Given the description of an element on the screen output the (x, y) to click on. 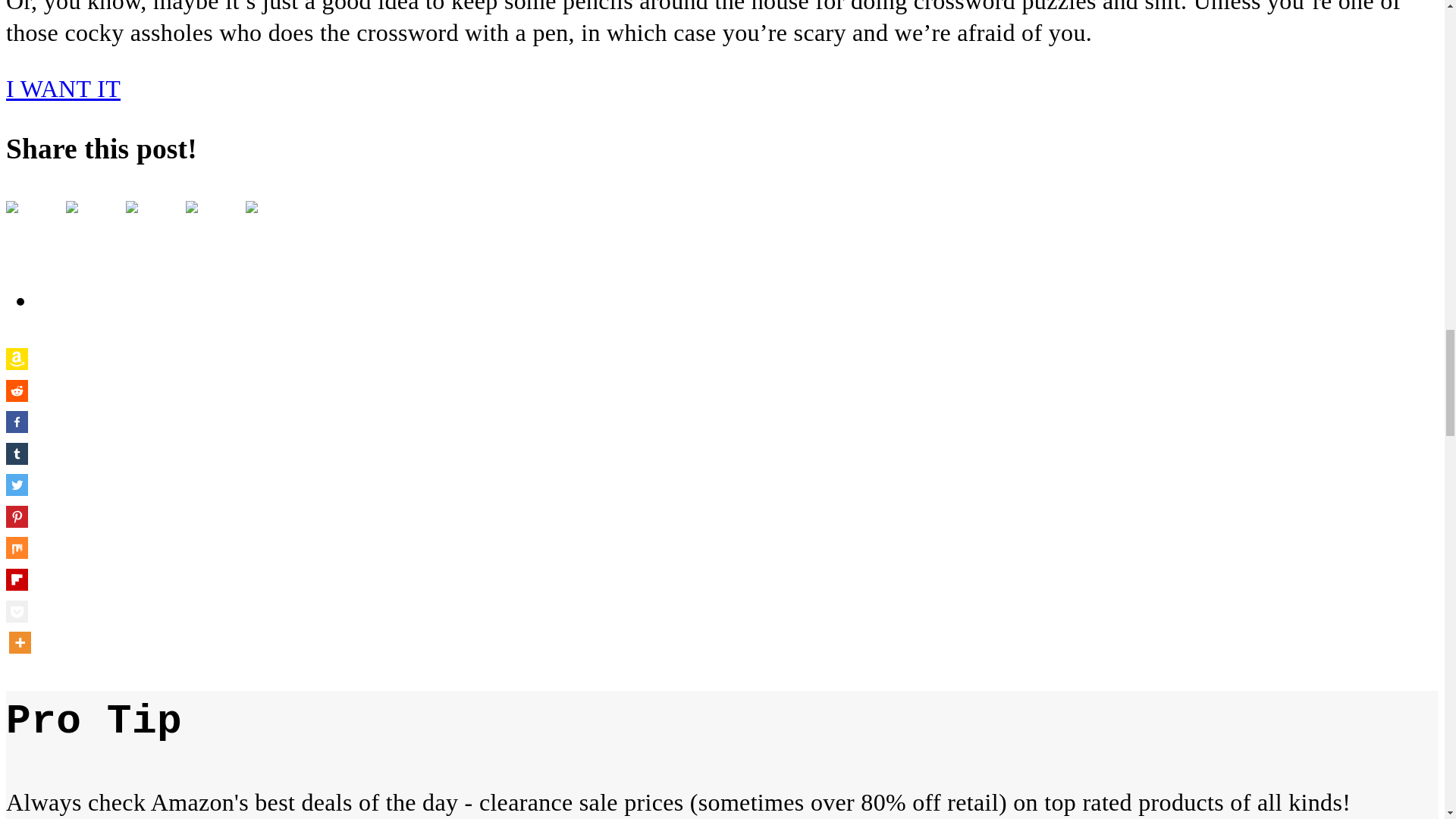
Blog about it! (252, 216)
Submit! (132, 216)
Tweet! (90, 224)
Share! (12, 216)
Submit! (149, 224)
Pin it! (210, 224)
Share! (30, 224)
Tweet! (72, 216)
Pin it! (193, 216)
Blog about it! (270, 224)
Visit Site (62, 88)
